Given the description of an element on the screen output the (x, y) to click on. 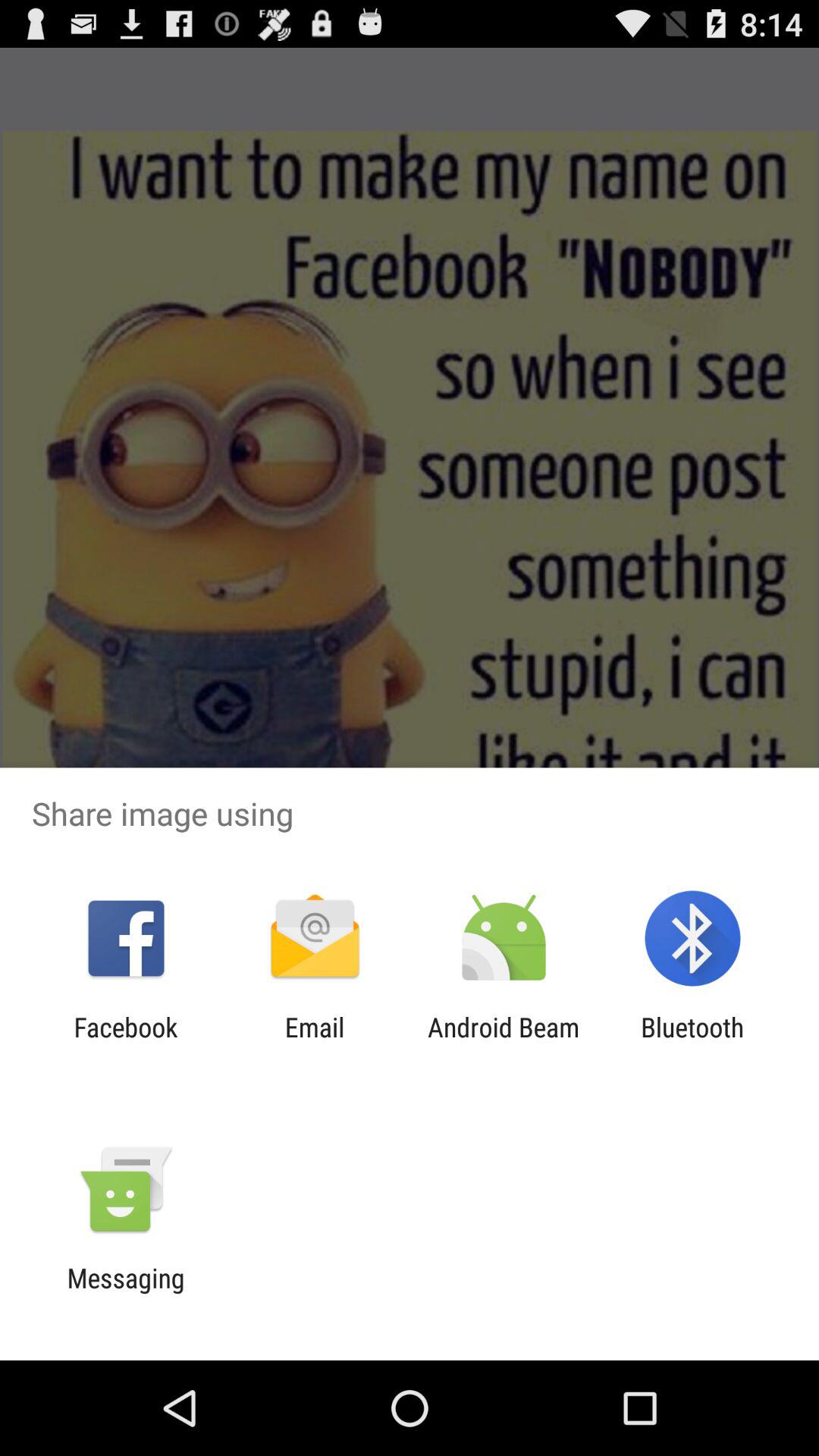
select facebook app (125, 1042)
